Given the description of an element on the screen output the (x, y) to click on. 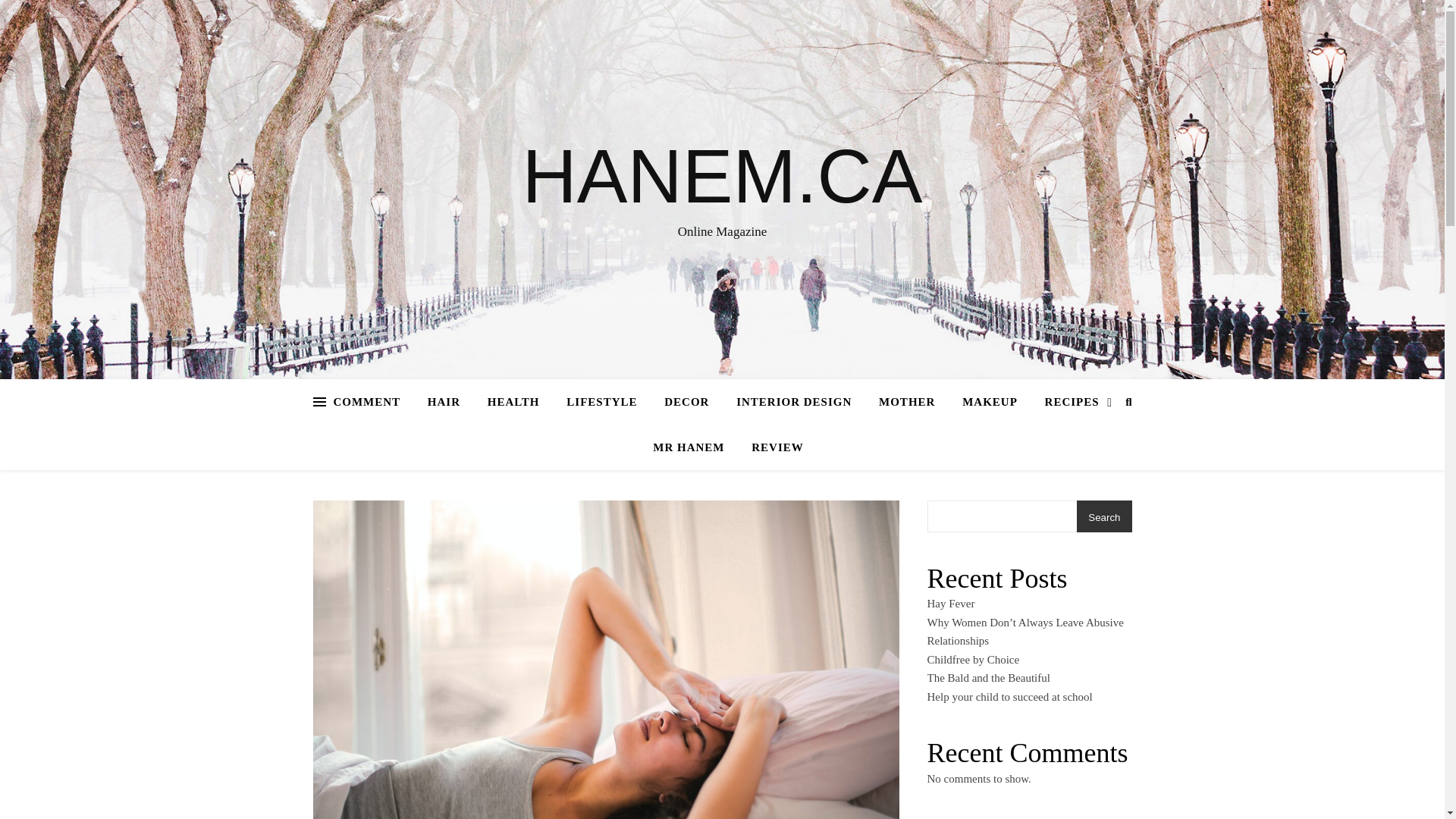
COMMENT (372, 402)
RECIPES (1072, 402)
HAIR (442, 402)
MAKEUP (989, 402)
LIFESTYLE (601, 402)
DECOR (686, 402)
HEALTH (513, 402)
INTERIOR DESIGN (793, 402)
MOTHER (906, 402)
REVIEW (771, 447)
MR HANEM (688, 447)
